Given the description of an element on the screen output the (x, y) to click on. 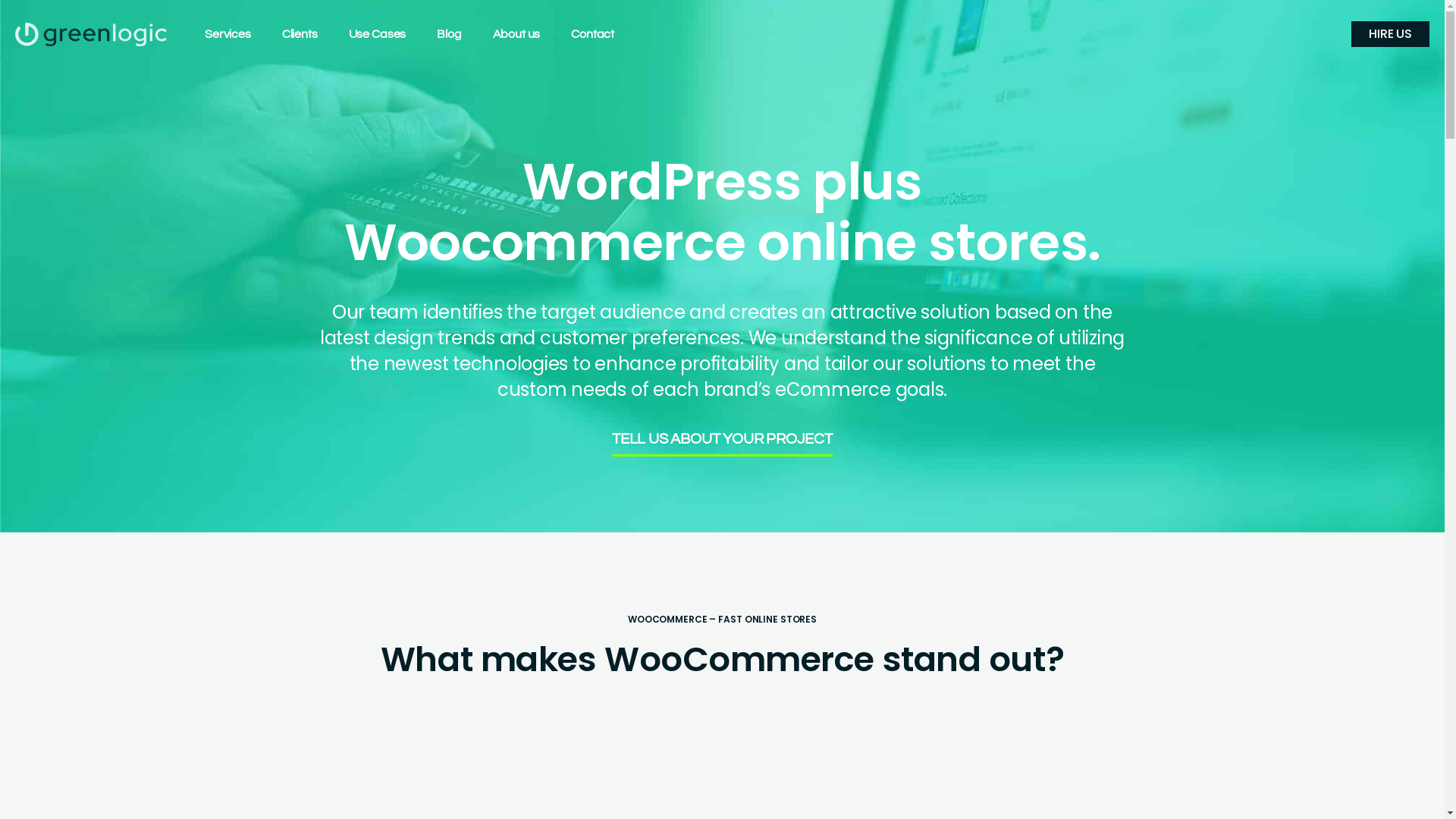
Blog Element type: text (448, 34)
Greenlogic Element type: hover (90, 34)
About us Element type: text (516, 34)
TELL US ABOUT YOUR PROJECT Element type: text (721, 443)
Services Element type: text (227, 34)
Contact Element type: text (592, 34)
Clients Element type: text (299, 34)
Use Cases Element type: text (377, 34)
HIRE US Element type: text (1390, 34)
